Given the description of an element on the screen output the (x, y) to click on. 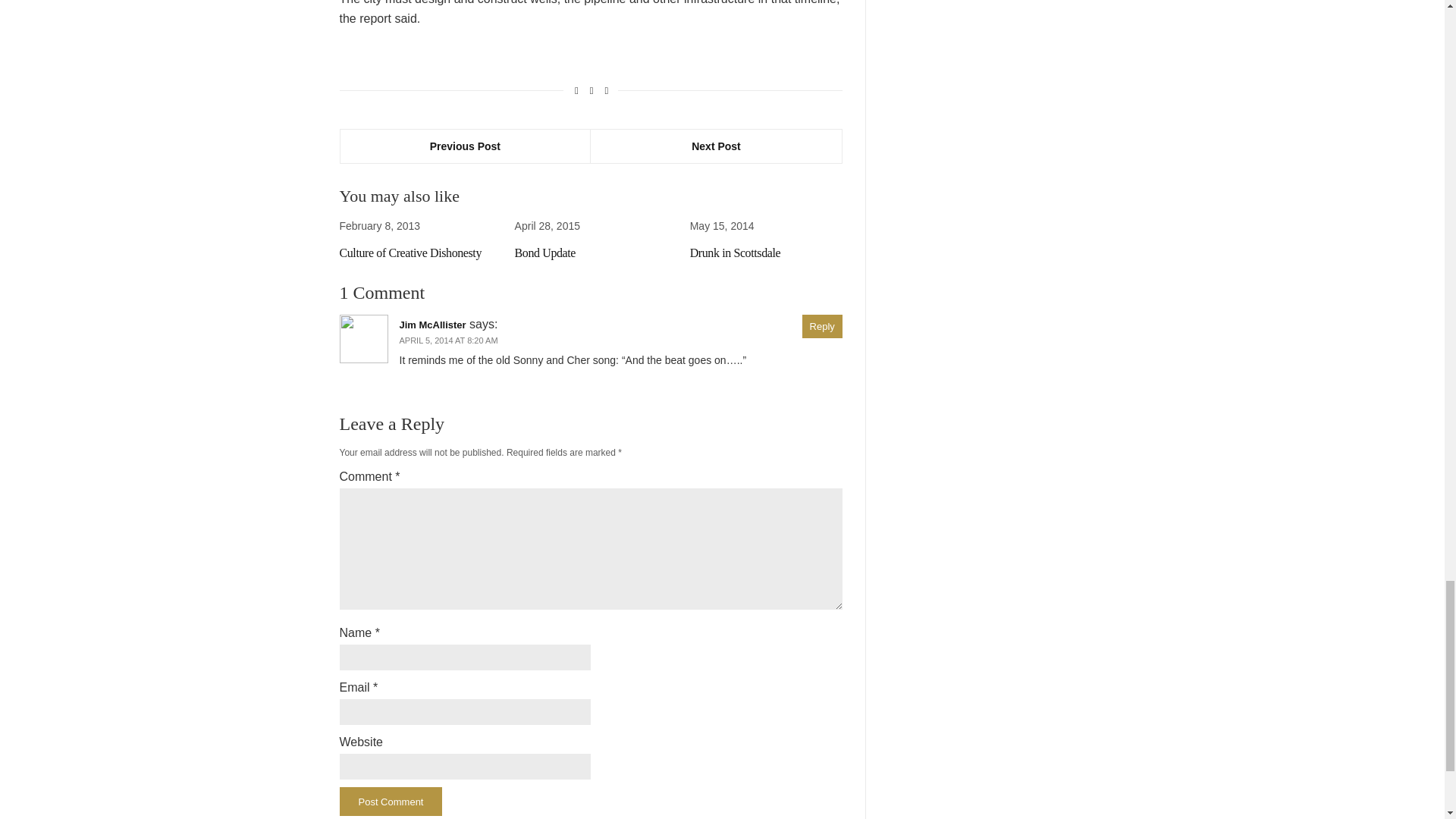
Bond Update (545, 252)
Reply (822, 326)
Jim McAllister (431, 324)
Previous Post (465, 145)
Post Comment (390, 801)
Next Post (716, 145)
Post Comment (390, 801)
APRIL 5, 2014 AT 8:20 AM (447, 339)
Drunk in Scottsdale (735, 252)
Culture of Creative Dishonesty (410, 252)
